Given the description of an element on the screen output the (x, y) to click on. 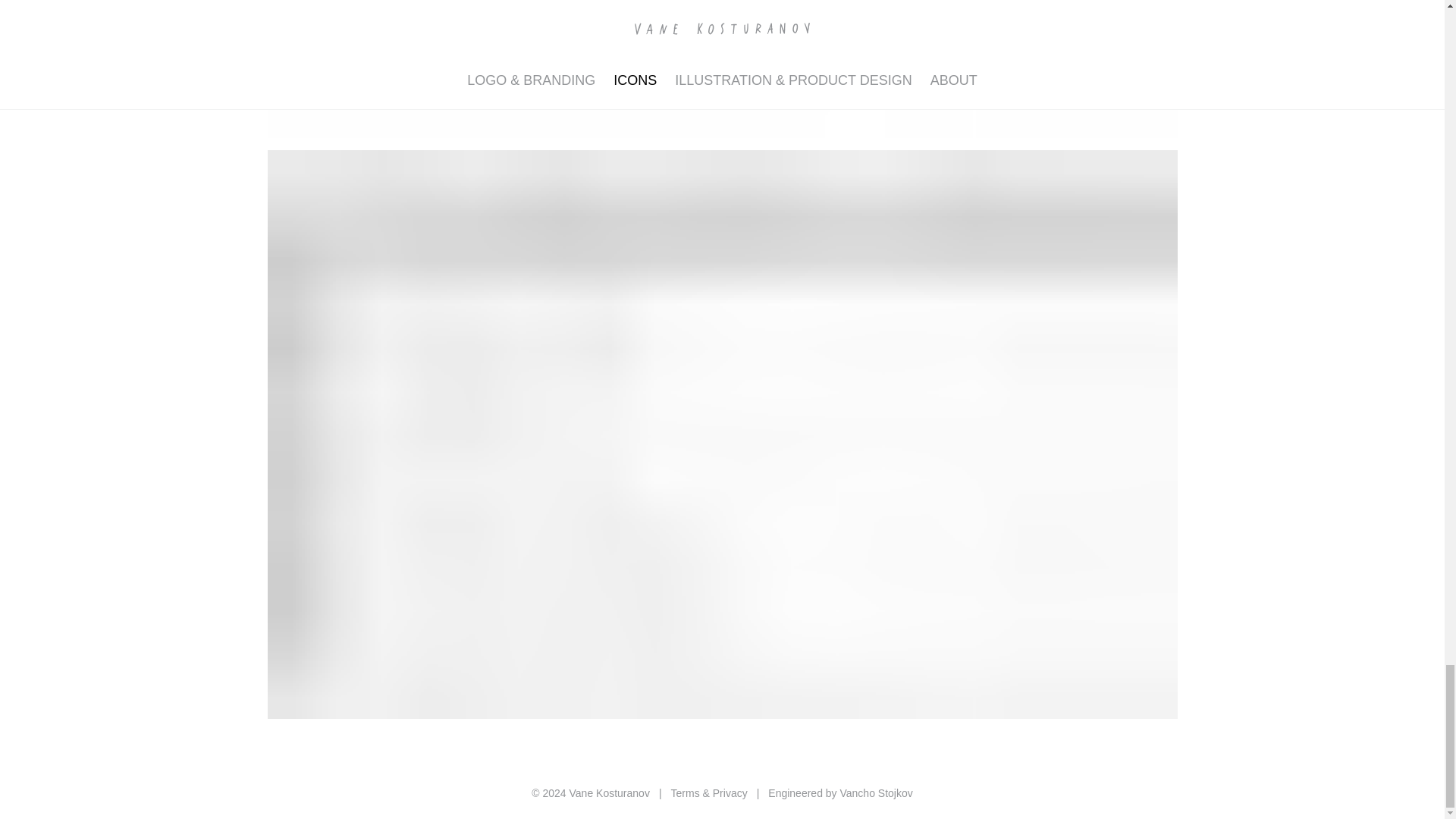
Vancho Stojkov (876, 793)
